Given the description of an element on the screen output the (x, y) to click on. 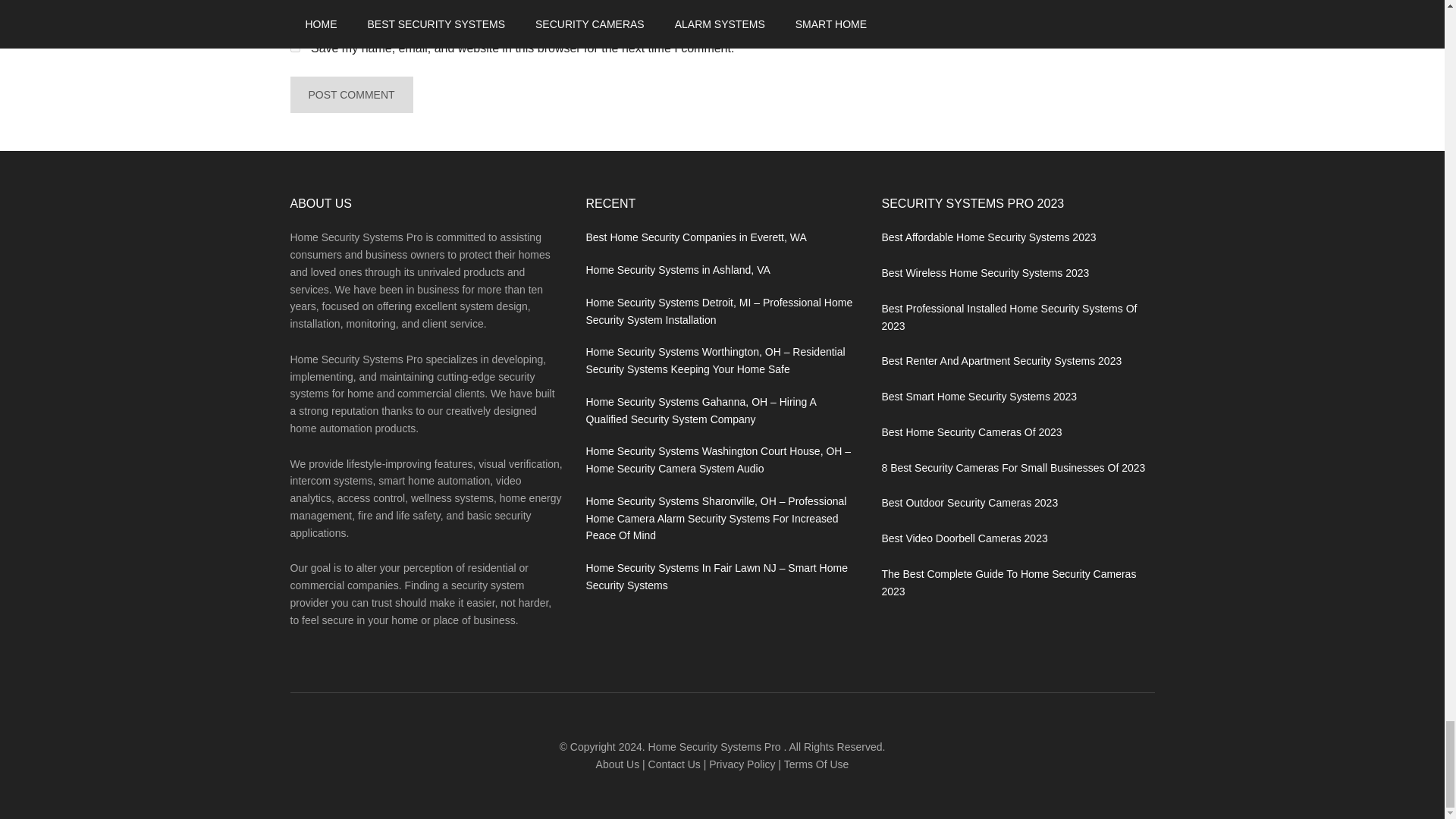
yes (294, 47)
Post Comment (350, 94)
Post Comment (350, 94)
Best Professional Installed Home Security Systems Of 2023 (1008, 317)
Best Home Security Cameras Of 2023 (970, 431)
Best Wireless Home Security Systems 2023 (984, 272)
Best Affordable Home Security Systems 2023 (988, 236)
Best Smart Home Security Systems 2023 (978, 396)
Best Home Security Companies in Everett, WA (695, 236)
Home Security Systems in Ashland, VA (677, 269)
